Given the description of an element on the screen output the (x, y) to click on. 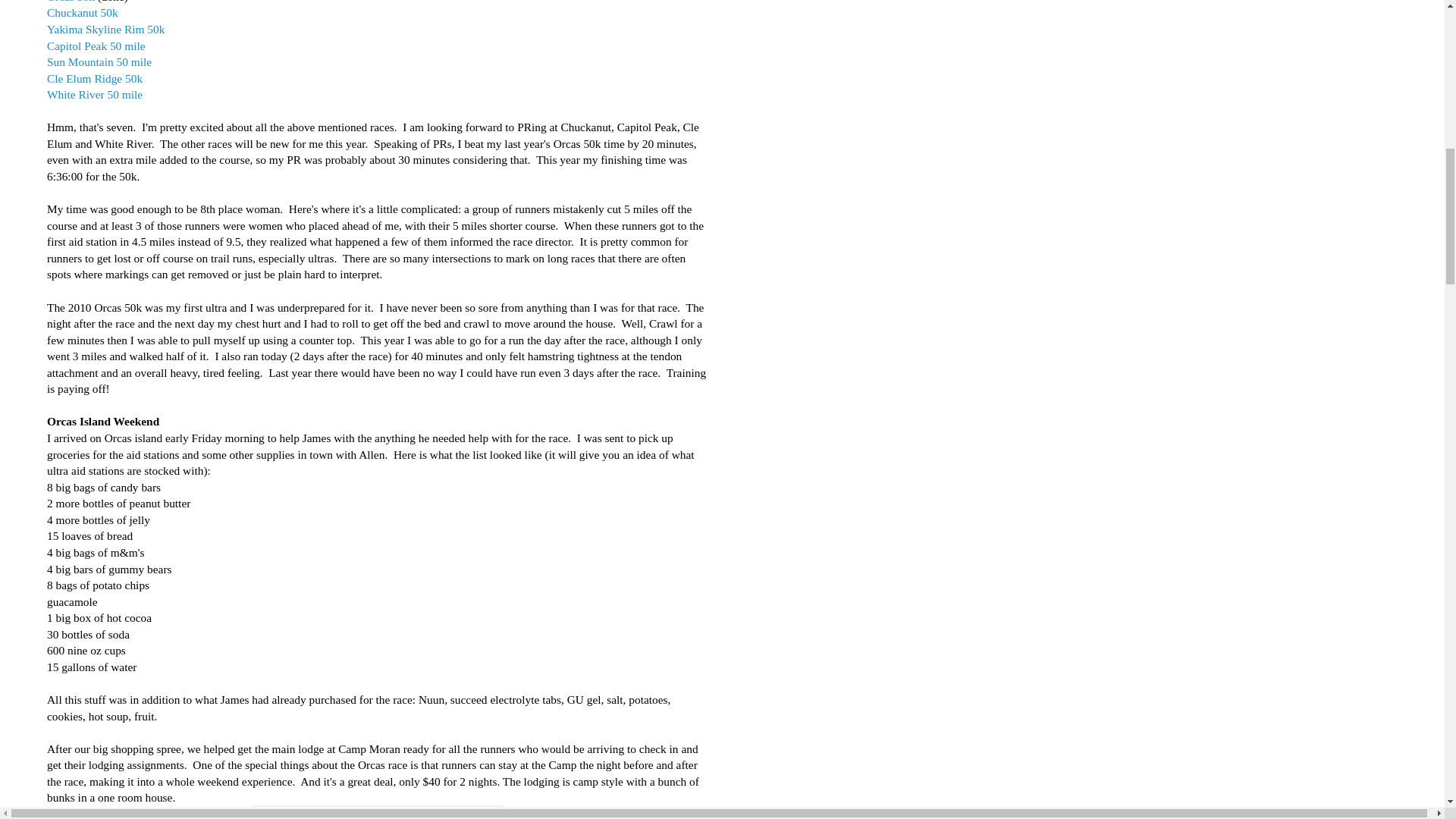
Yakima Skyline Rim 50k (105, 29)
Cle Elum Ridge 50k (94, 78)
Sun Mountain 50 mile (98, 61)
Orcas 50k (71, 1)
Chuckanut 50k (81, 11)
Capitol Peak 50 mile (95, 45)
White River 50 mile (94, 93)
